Given the description of an element on the screen output the (x, y) to click on. 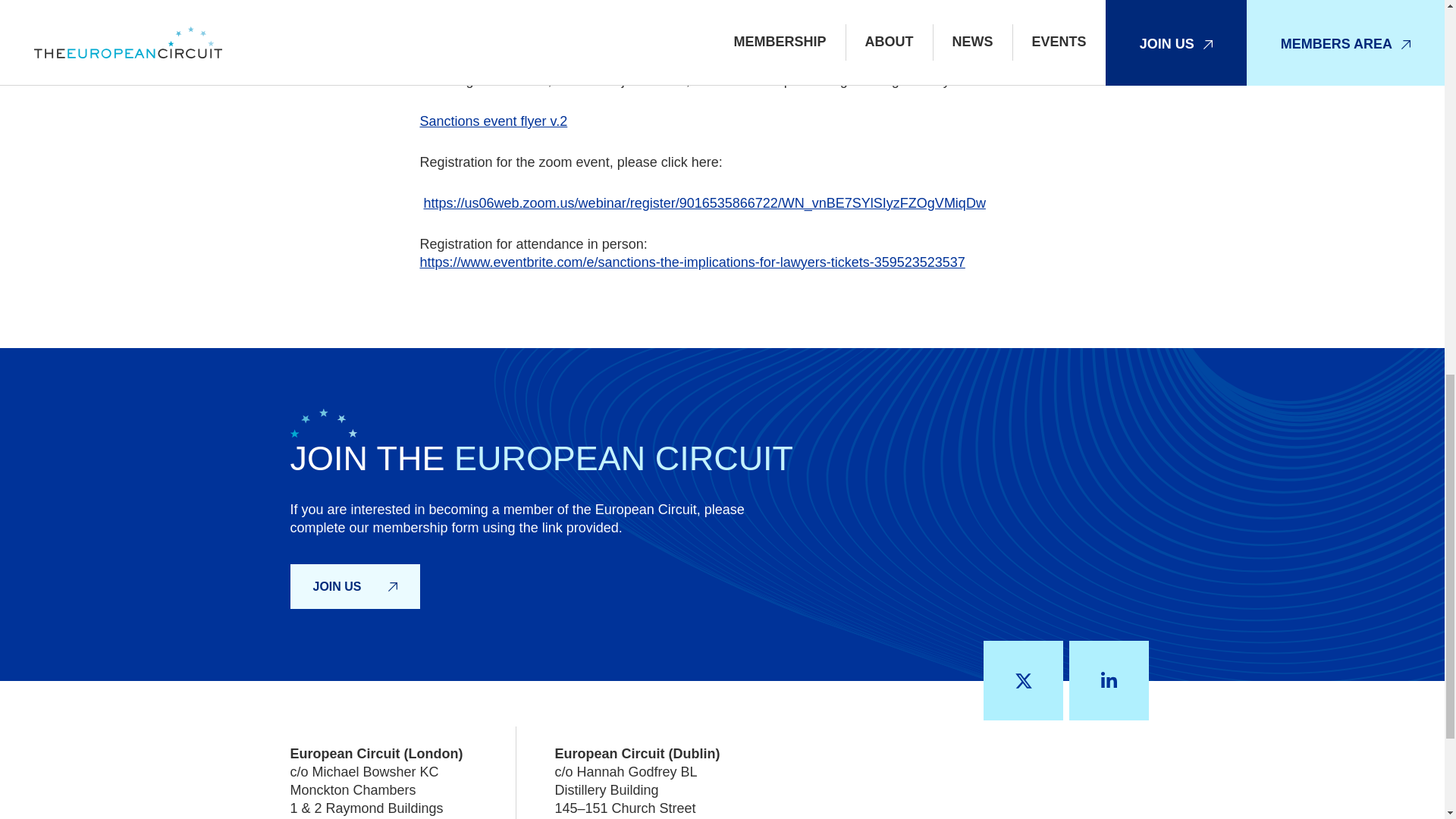
Sanctions event flyer v.2 (493, 122)
JOIN US (354, 586)
